Given the description of an element on the screen output the (x, y) to click on. 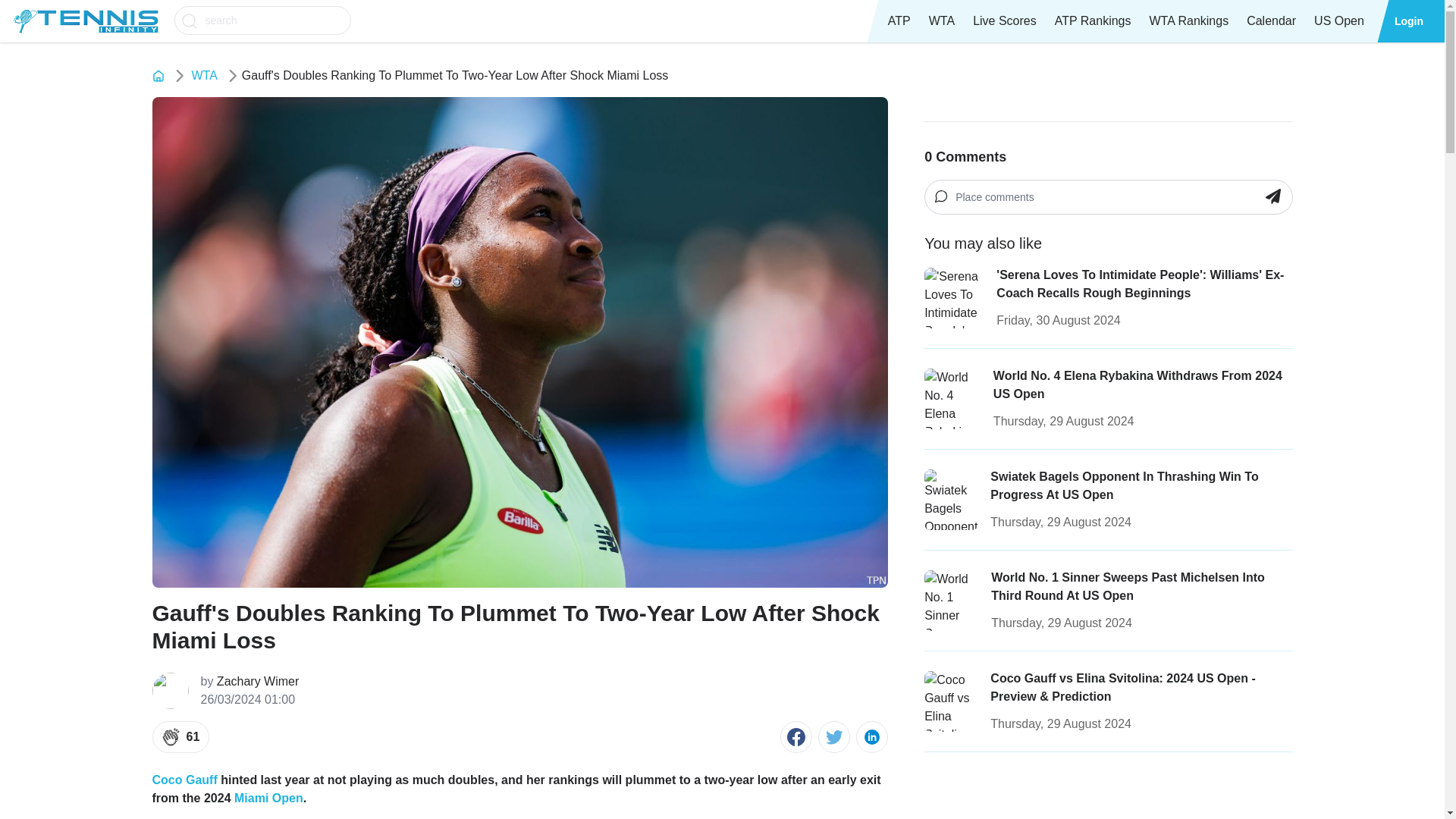
Coco Gauff (183, 779)
ATP (899, 21)
US Open (1338, 21)
61 (180, 736)
Calendar (1270, 21)
ATP Rankings (1092, 21)
Login (1409, 20)
WTA (941, 21)
Live Scores (1004, 21)
WTA (203, 75)
